Given the description of an element on the screen output the (x, y) to click on. 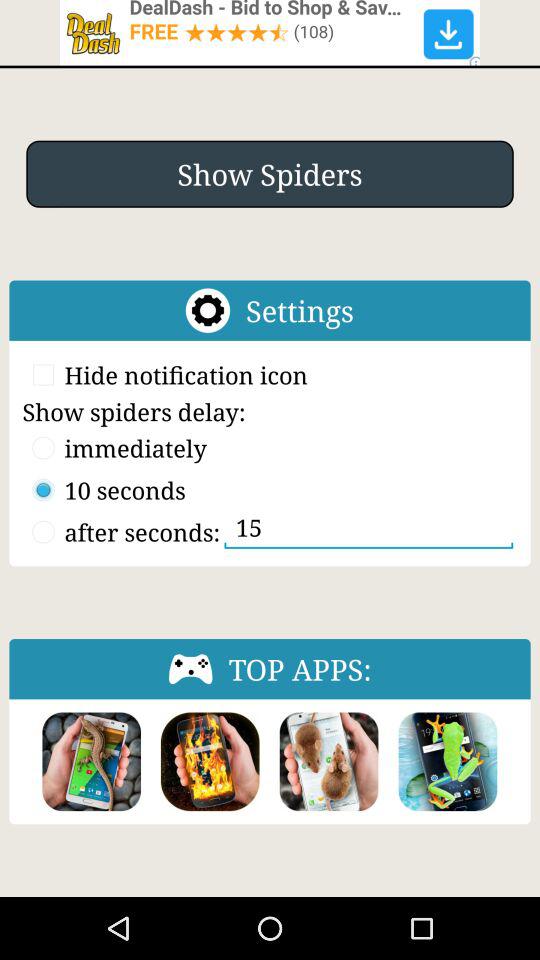
select the app (328, 761)
